Given the description of an element on the screen output the (x, y) to click on. 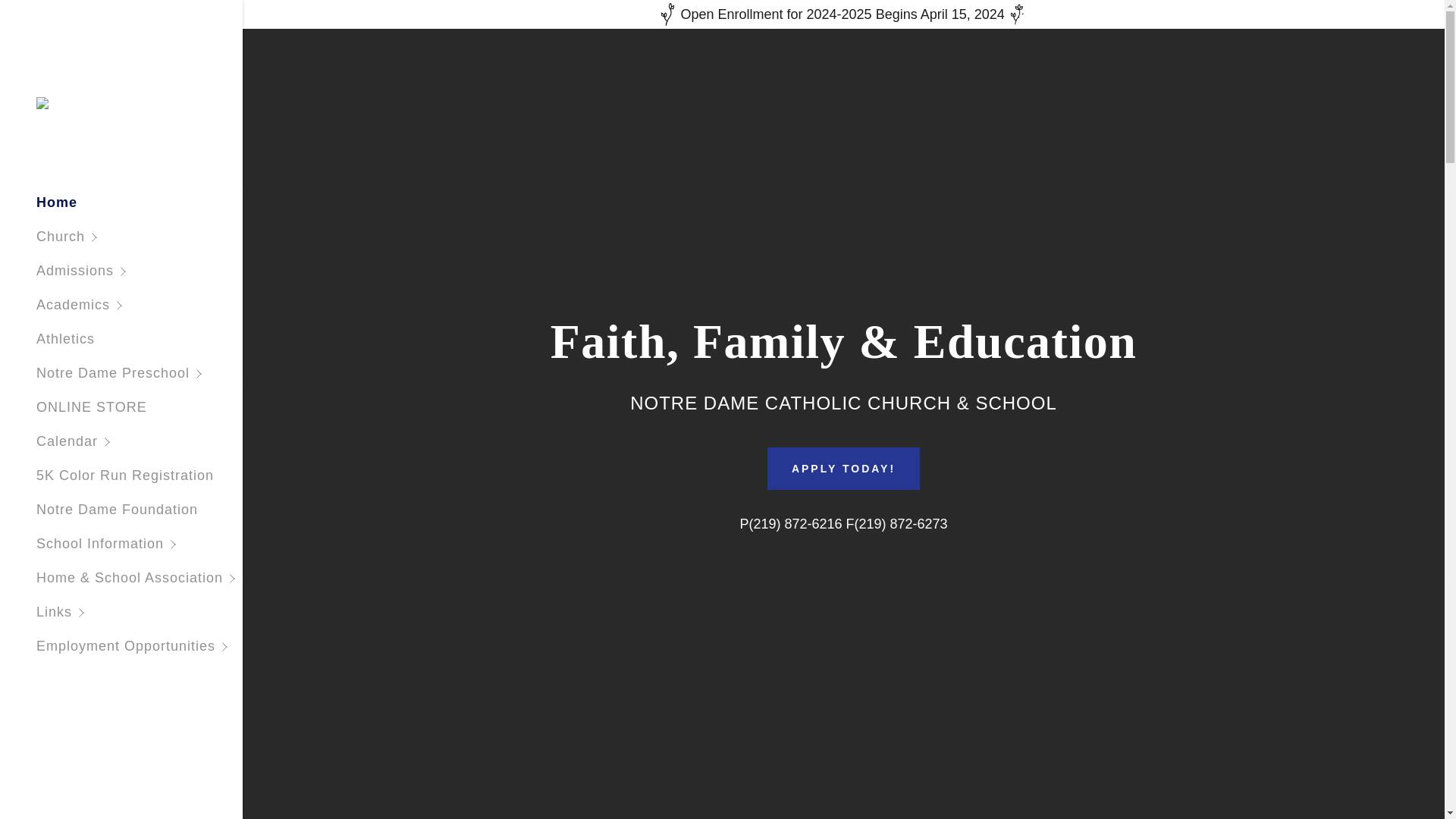
Notre Dame Foundation (117, 509)
Notre Dame Preschool (139, 373)
ONLINE STORE (91, 406)
Athletics (65, 338)
Home (56, 201)
5K Color Run Registration (125, 475)
Church (139, 236)
Academics (139, 305)
Admissions (139, 270)
School Information (139, 544)
Calendar (139, 441)
